Given the description of an element on the screen output the (x, y) to click on. 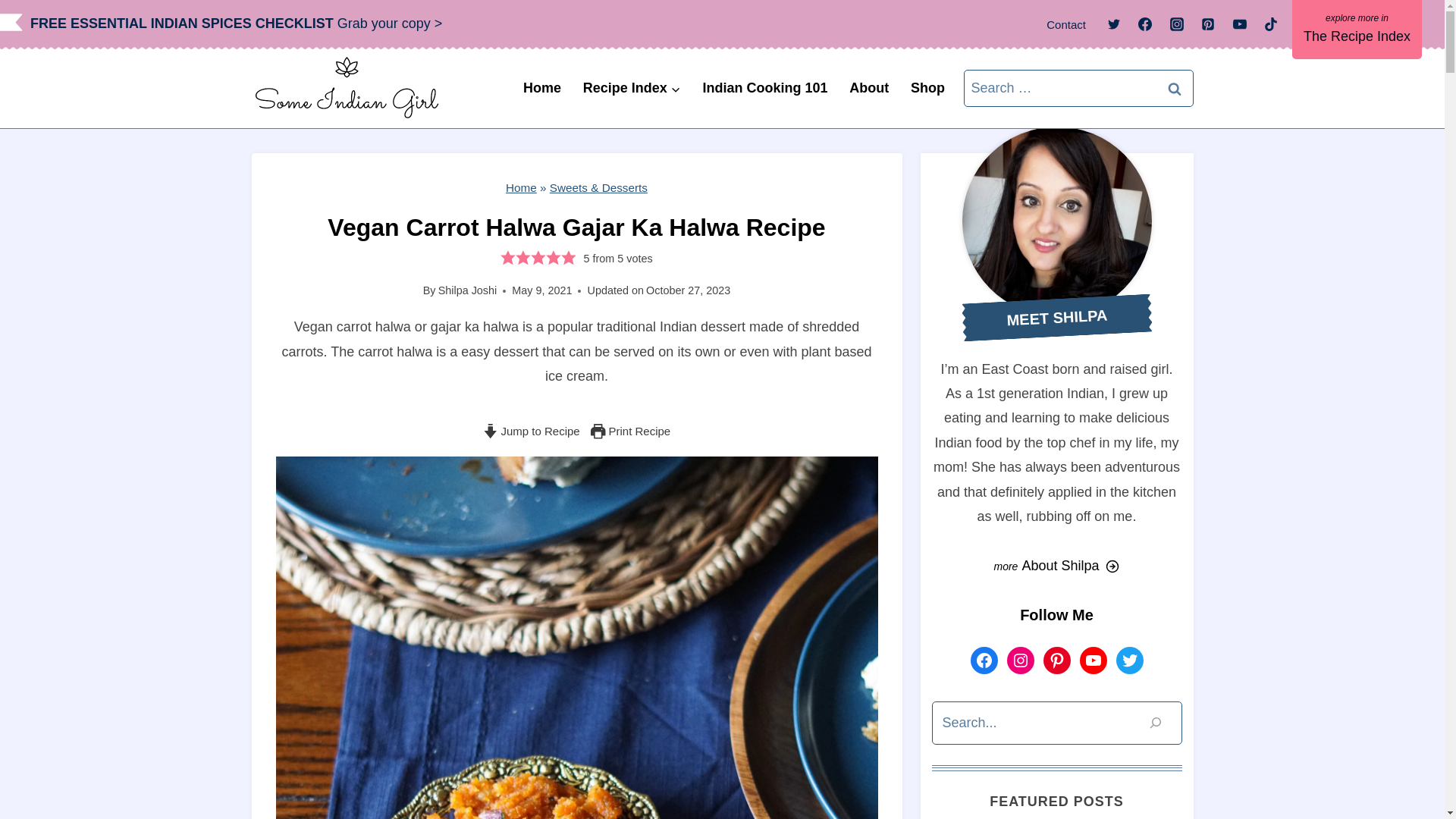
Home (542, 87)
About (868, 87)
Shop (927, 87)
Contact (1066, 24)
Shilpa Joshi (467, 290)
Search (1174, 88)
Print Recipe (630, 431)
Jump to Recipe (531, 431)
Recipe Index (631, 87)
Indian Cooking 101 (764, 87)
